Given the description of an element on the screen output the (x, y) to click on. 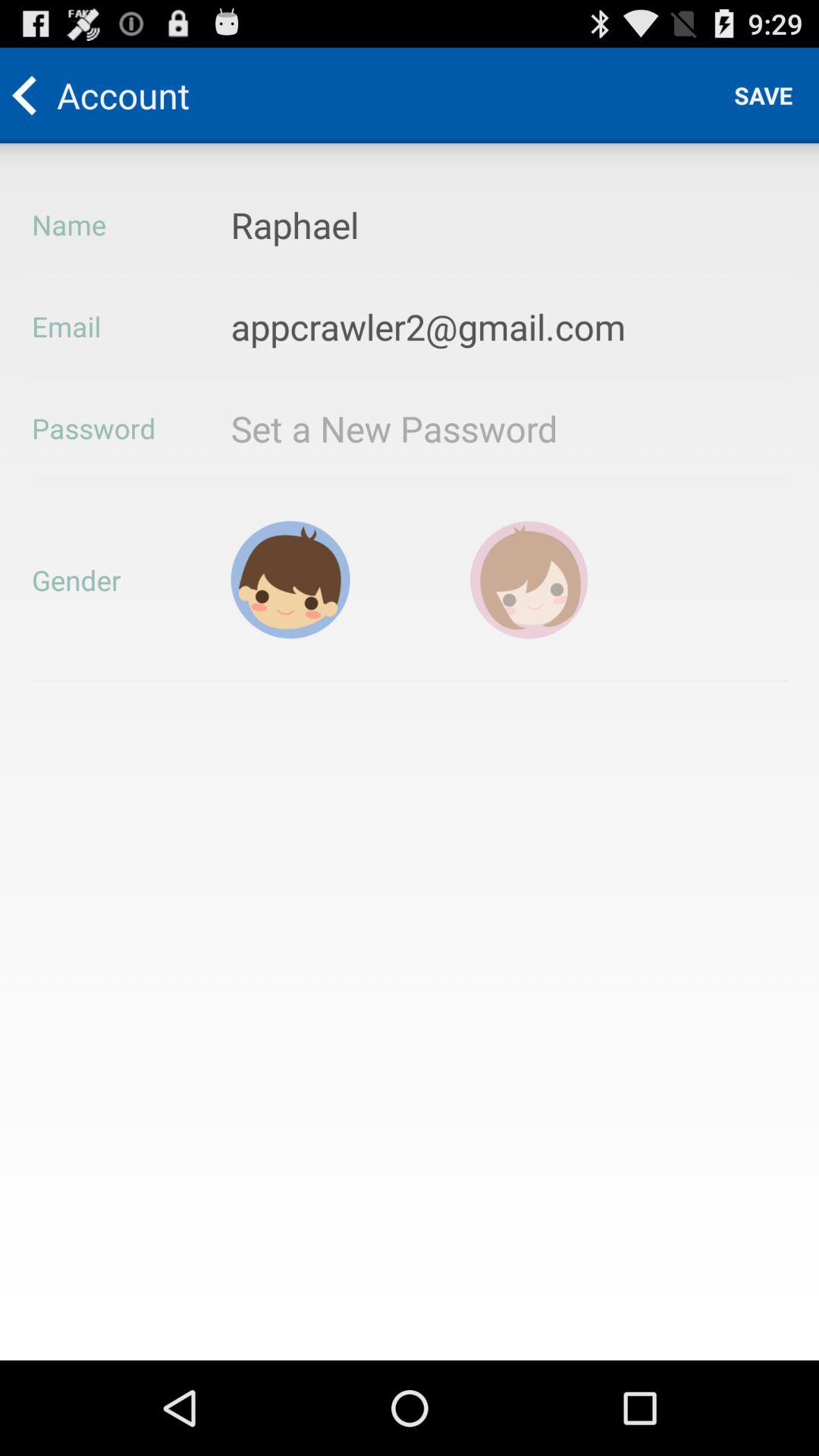
enter new password (438, 428)
